Given the description of an element on the screen output the (x, y) to click on. 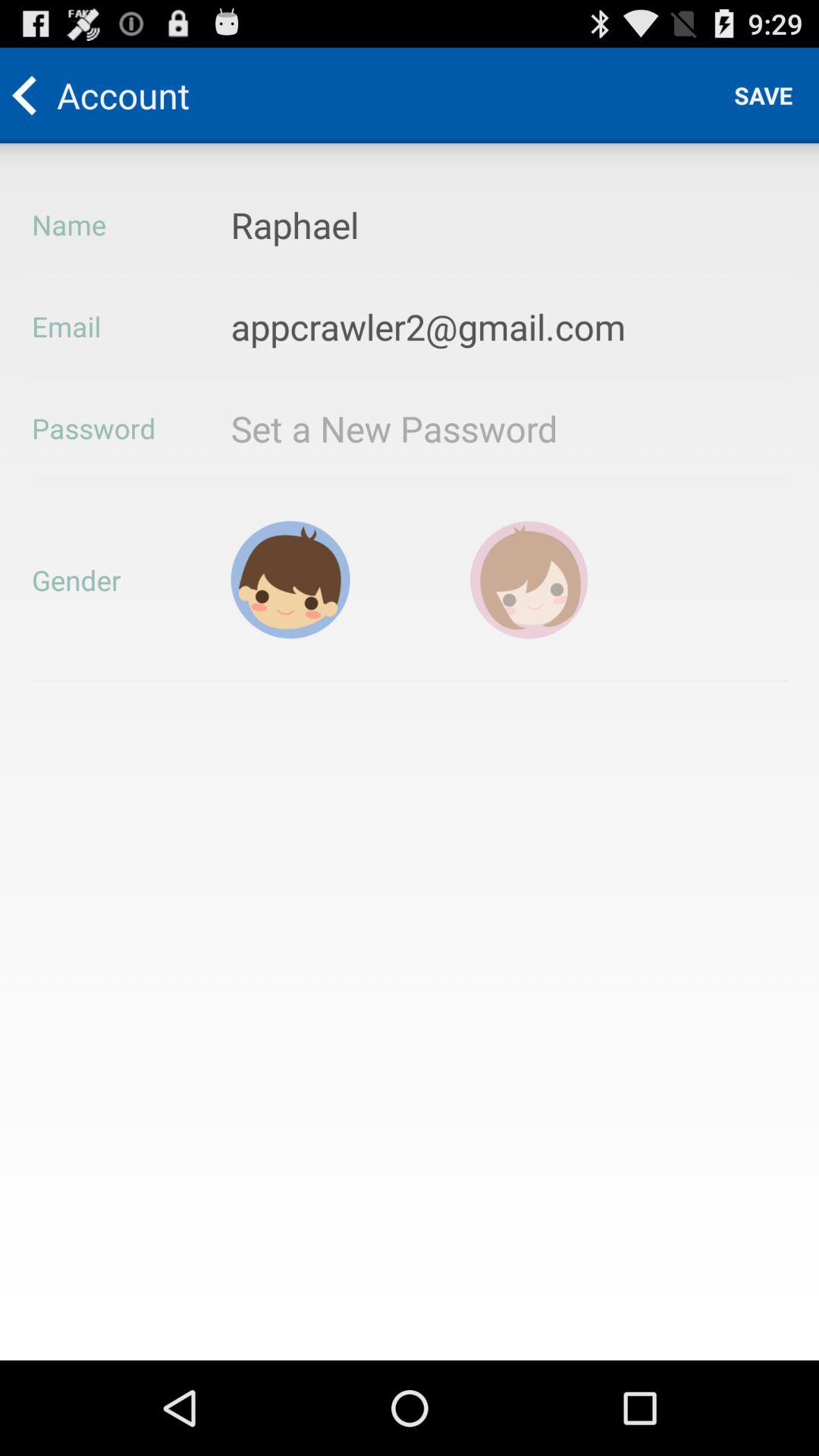
enter new password (438, 428)
